Given the description of an element on the screen output the (x, y) to click on. 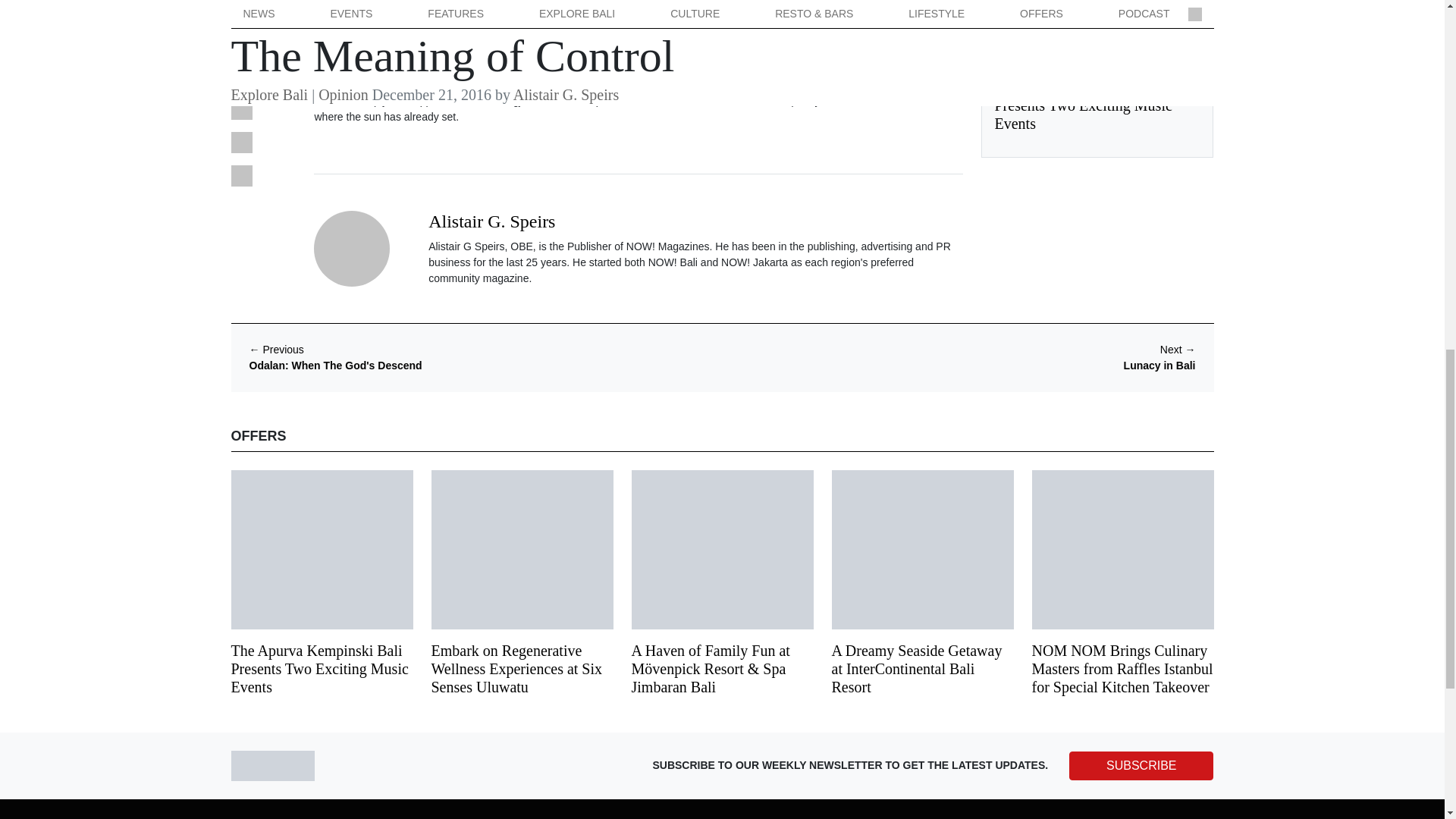
Experience Offers (1036, 63)
The Apurva Kempinski Bali Presents Two Exciting Music Events (1083, 104)
Alistair G. Speirs (491, 220)
